Given the description of an element on the screen output the (x, y) to click on. 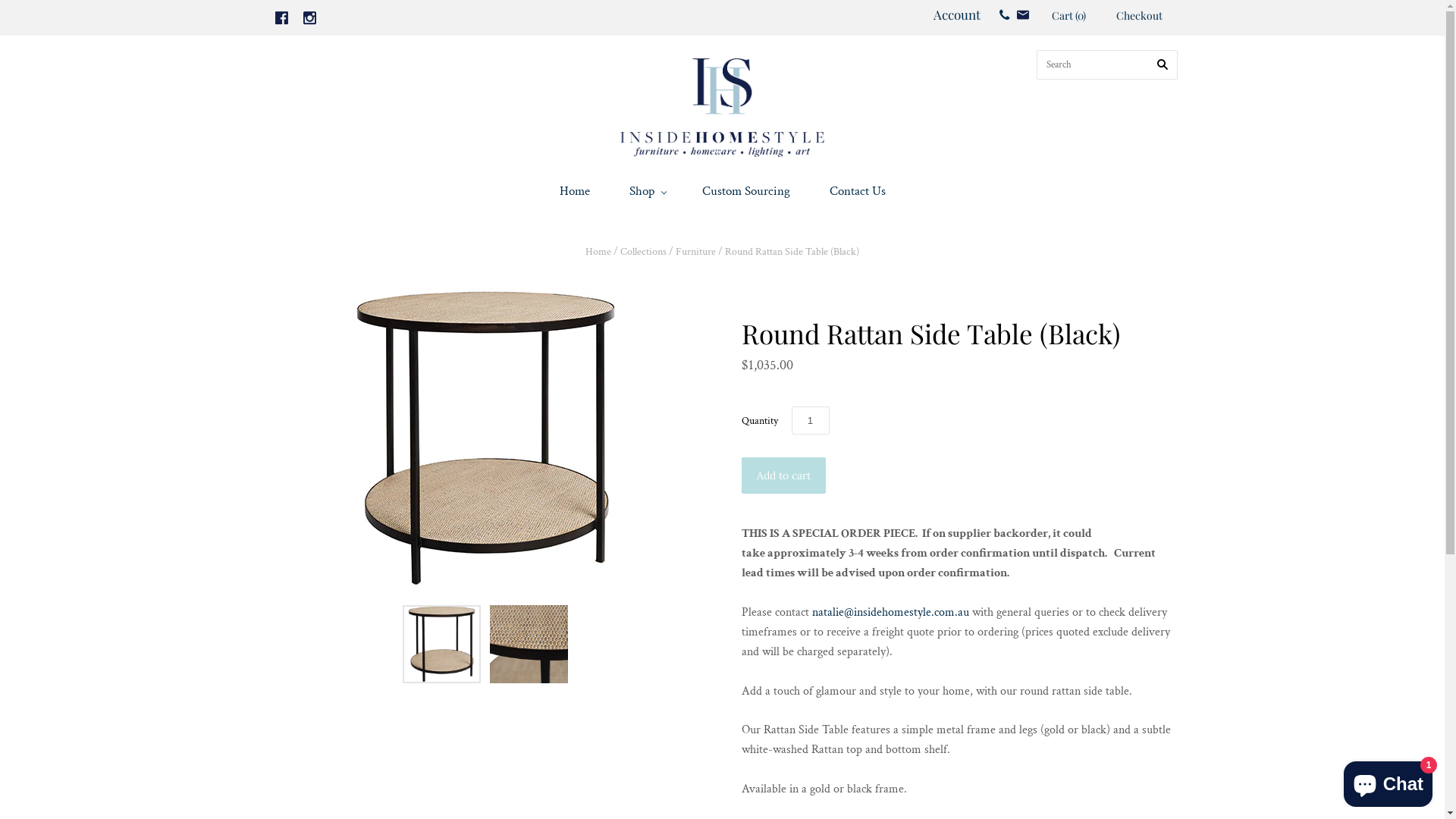
Contact Us Element type: text (857, 191)
Cart (0) Element type: text (1068, 16)
Furniture Element type: text (695, 251)
Add to cart Element type: text (783, 475)
Shop Element type: text (645, 191)
Facebook Element type: text (281, 17)
Account Element type: text (955, 14)
Shopify online store chat Element type: hover (1388, 780)
Email Element type: text (1022, 14)
natalie@insidehomestyle.com.au Element type: text (889, 612)
Checkout Element type: text (1139, 16)
Home Element type: text (574, 191)
Custom Sourcing Element type: text (745, 191)
Inside Home Style on Phone Element type: hover (1004, 14)
Collections Element type: text (643, 251)
Instagram Element type: text (308, 17)
Home Element type: text (598, 251)
